Given the description of an element on the screen output the (x, y) to click on. 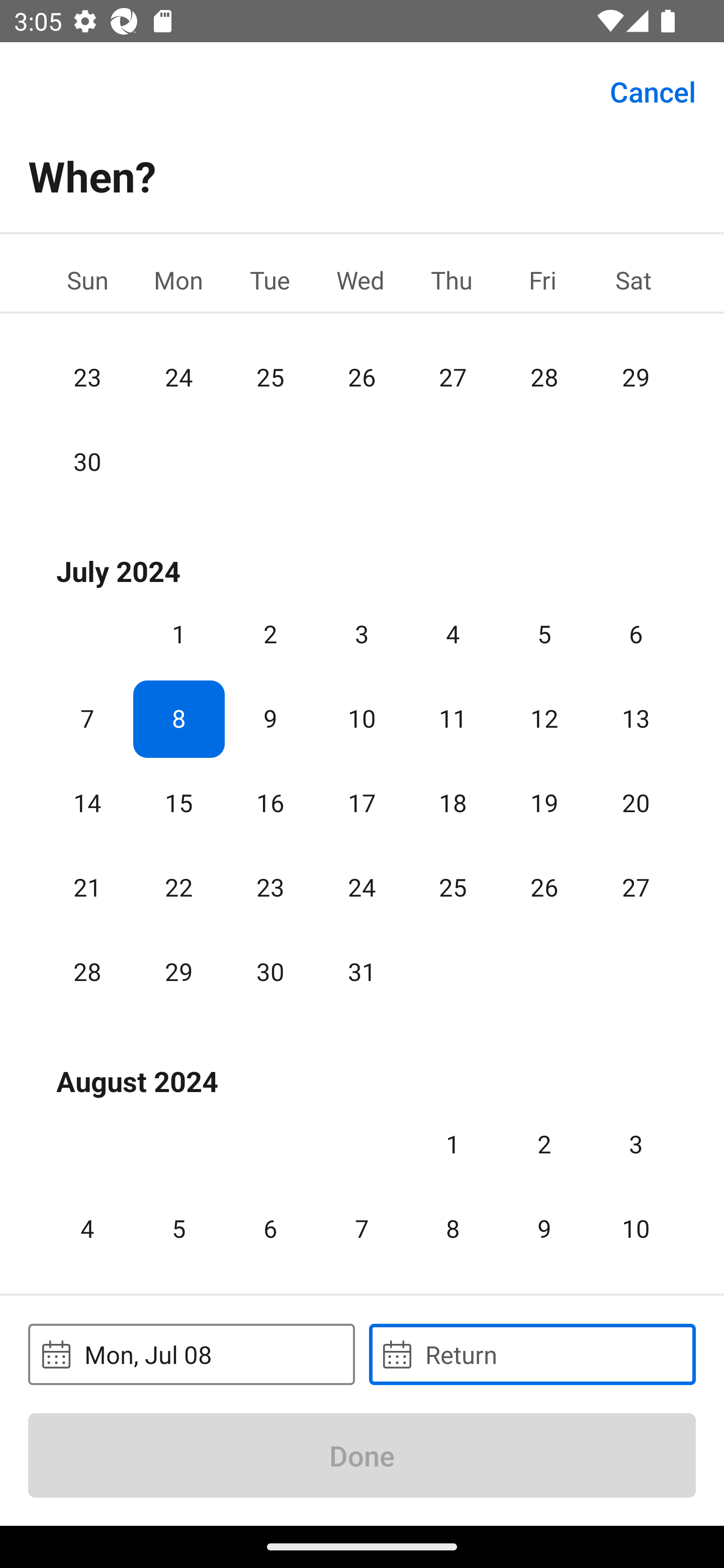
Cancel (652, 90)
Mon, Jul 08 (191, 1353)
Return (532, 1353)
Done (361, 1454)
